Given the description of an element on the screen output the (x, y) to click on. 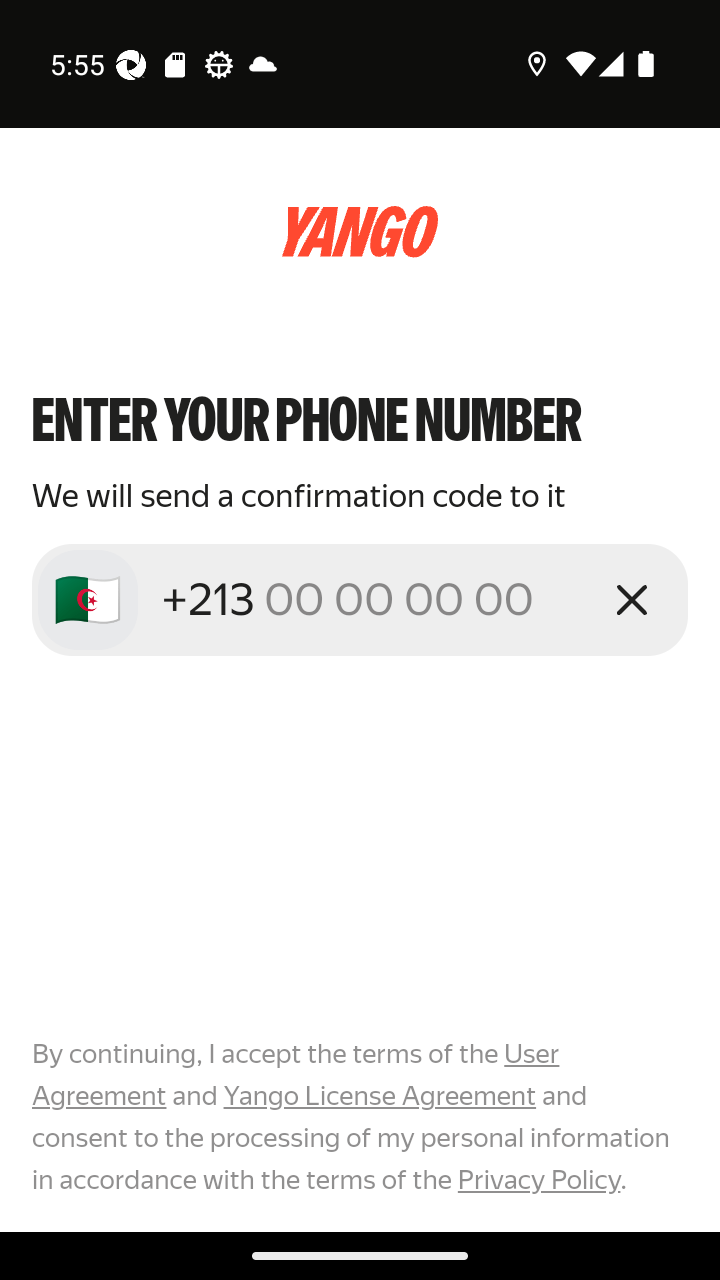
logo (359, 231)
🇩🇿 (88, 600)
+213 (372, 599)
User Agreement (295, 1075)
Yango License Agreement (379, 1096)
Privacy Policy (538, 1179)
